Given the description of an element on the screen output the (x, y) to click on. 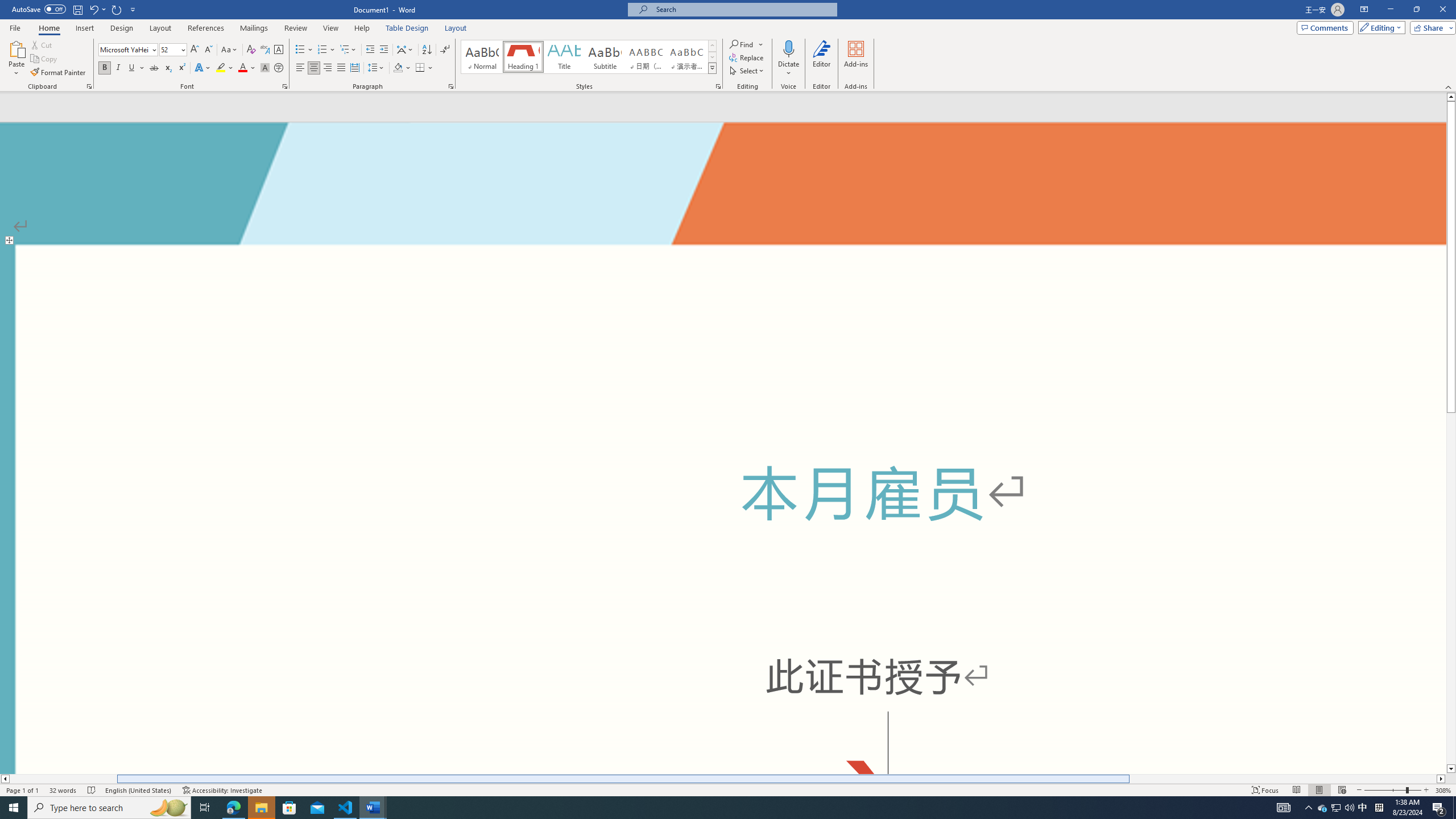
Zoom 308% (1443, 790)
Language English (United States) (138, 790)
Font Color Red (241, 67)
